Given the description of an element on the screen output the (x, y) to click on. 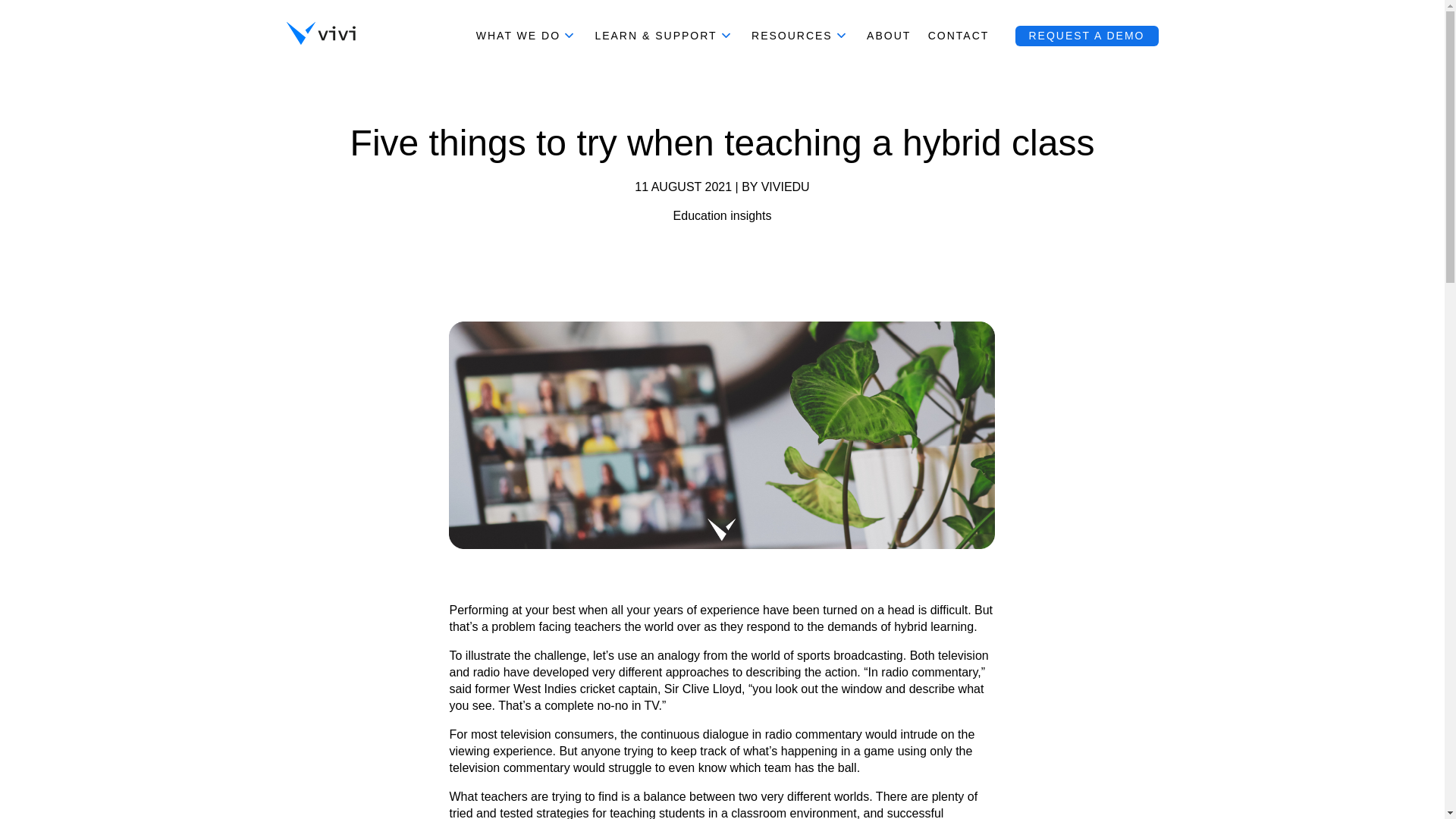
ABOUT (888, 35)
RESOURCES (800, 35)
REQUEST A DEMO (1085, 35)
REQUEST A DEMO (1085, 35)
Education insights (721, 215)
Vivi (320, 35)
CONTACT (959, 35)
WHAT WE DO (527, 35)
